Given the description of an element on the screen output the (x, y) to click on. 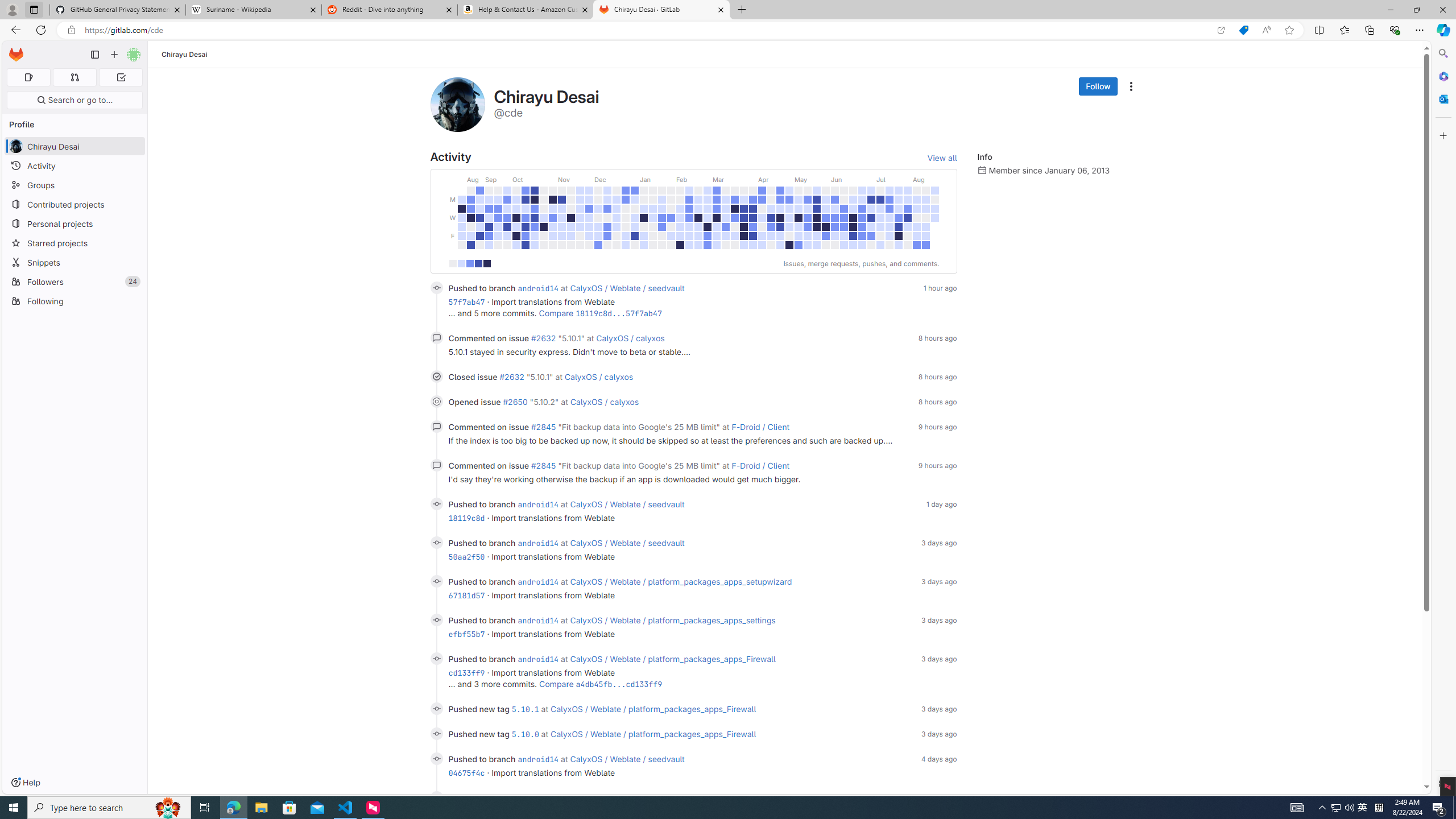
#2650  (515, 402)
Snippets (74, 262)
